Given the description of an element on the screen output the (x, y) to click on. 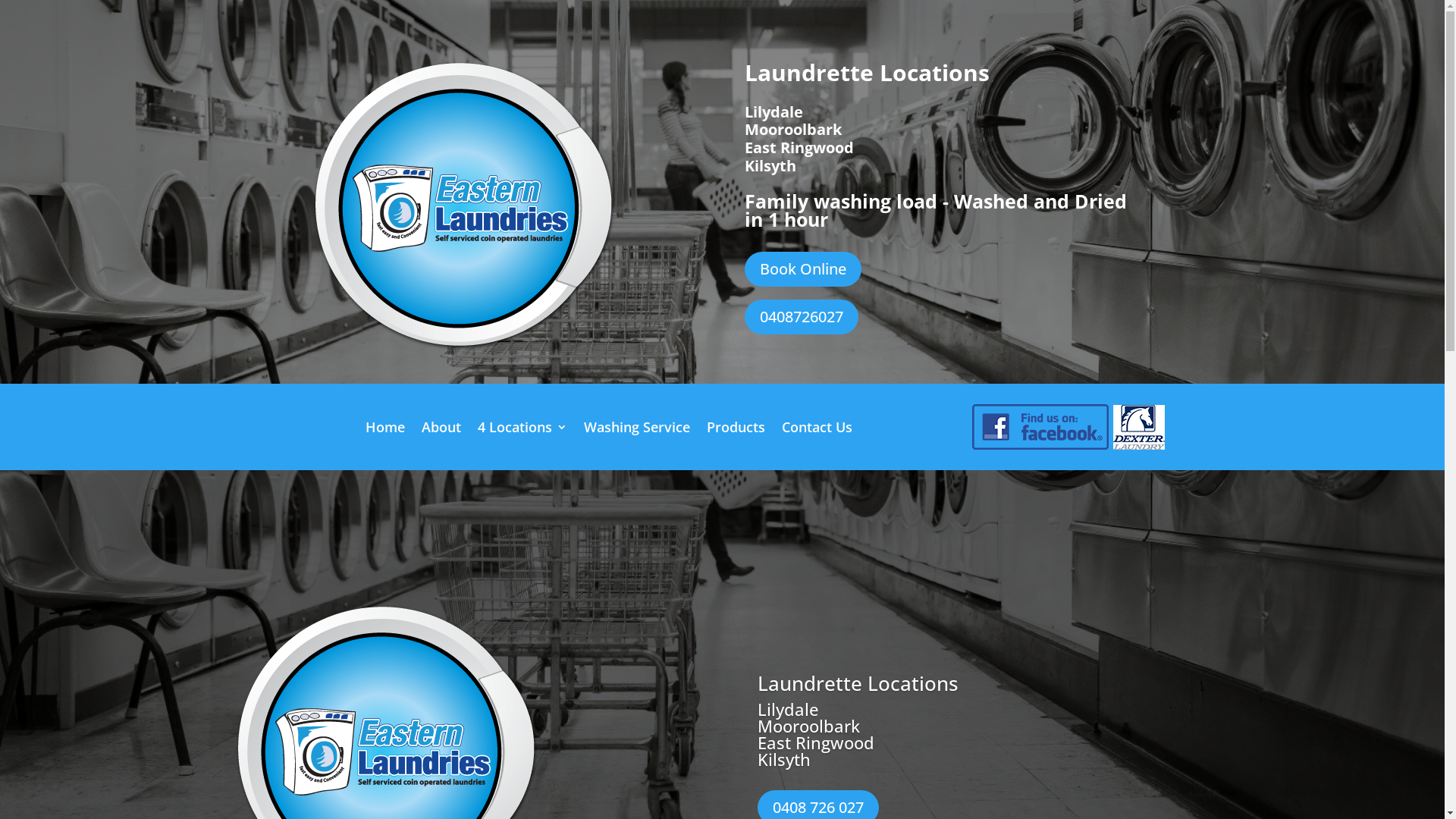
fb-findus Element type: hover (1040, 426)
Washing Service Element type: text (636, 429)
About Element type: text (441, 429)
dexter Element type: hover (1138, 426)
0408726027 Element type: text (801, 316)
Contact Us Element type: text (816, 429)
Home Element type: text (384, 429)
4 Locations Element type: text (522, 429)
Book Online Element type: text (802, 268)
Products Element type: text (735, 429)
logo01 Element type: hover (463, 205)
